Given the description of an element on the screen output the (x, y) to click on. 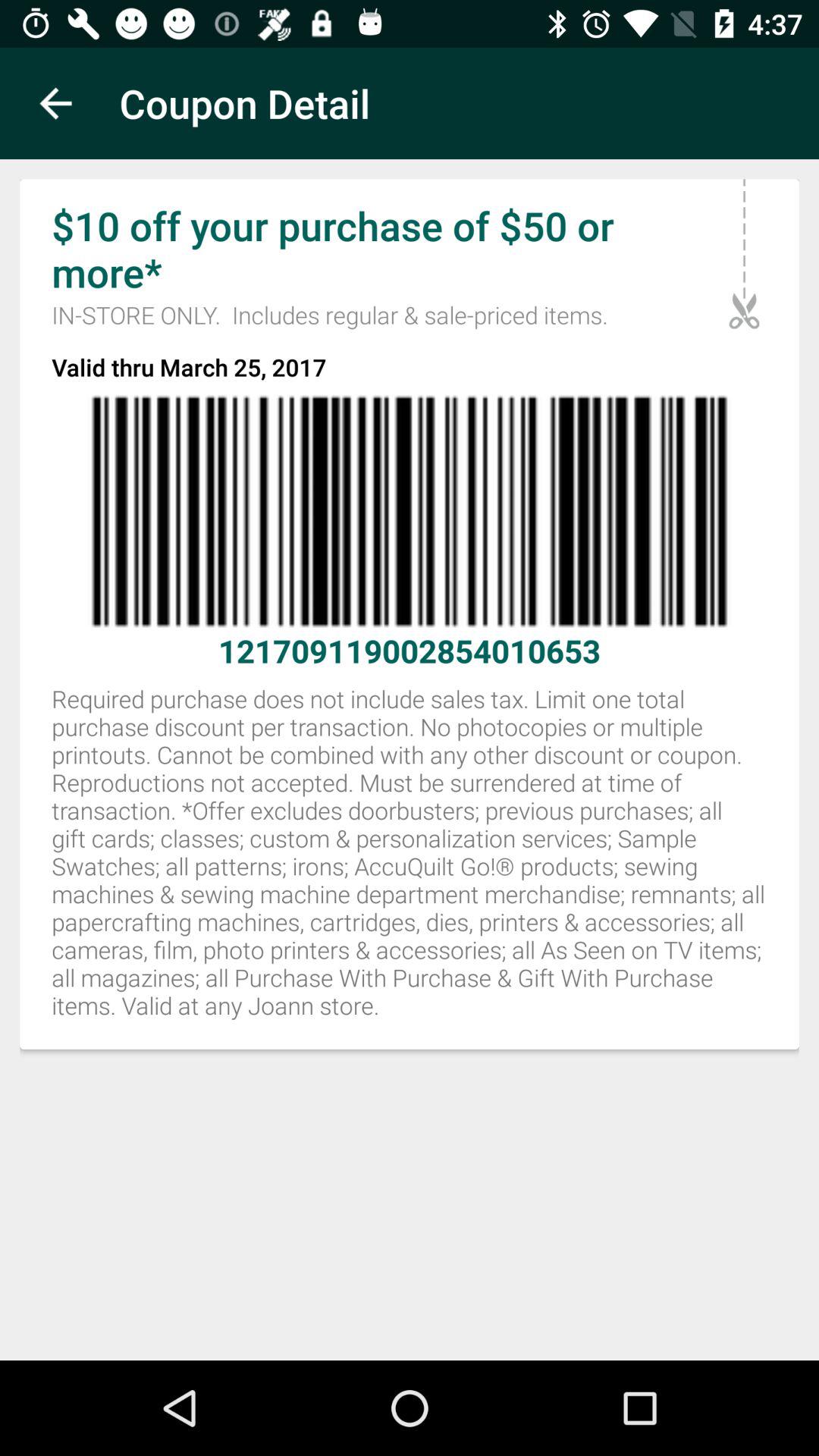
choose icon next to the coupon detail item (55, 103)
